Given the description of an element on the screen output the (x, y) to click on. 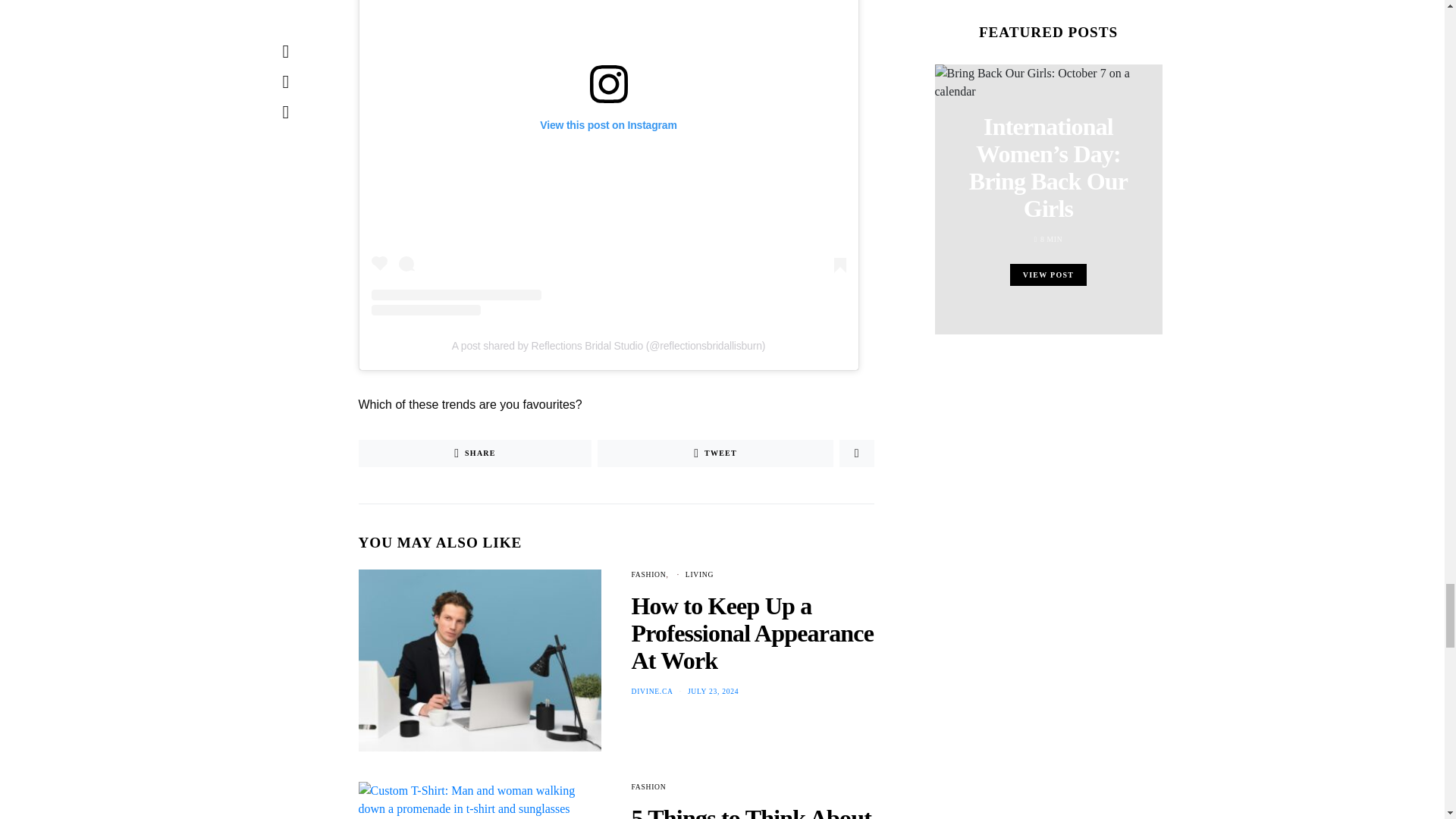
View all posts by divine.ca (651, 691)
